Given the description of an element on the screen output the (x, y) to click on. 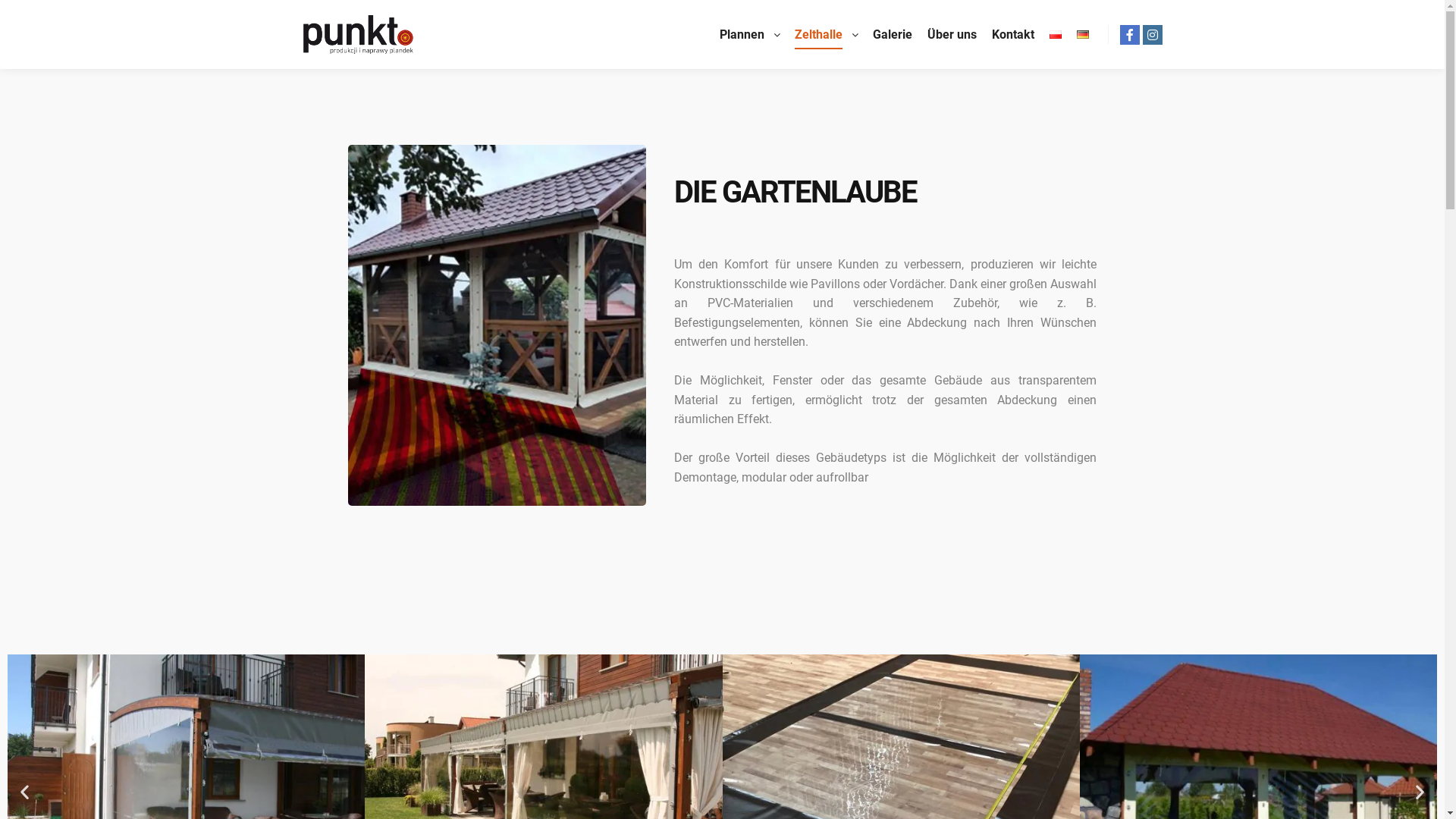
Galerie Element type: text (891, 34)
Kontakt Element type: text (1012, 34)
Zelthalle Element type: text (816, 34)
PUNKT Element type: hover (357, 34)
Plannen Element type: text (738, 34)
